Given the description of an element on the screen output the (x, y) to click on. 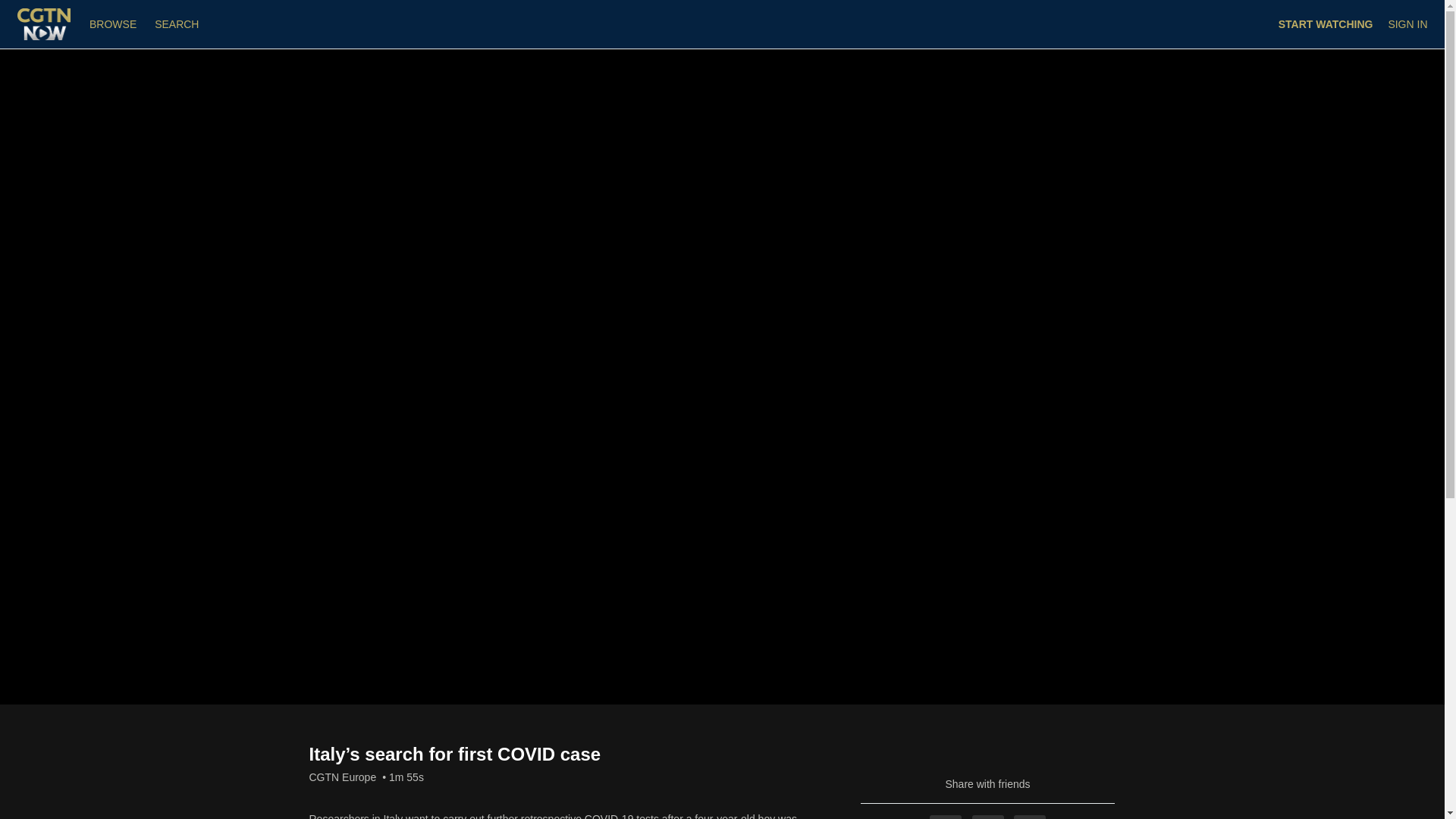
SIGN IN (1406, 24)
CGTN Europe (342, 776)
SEARCH (176, 24)
START WATCHING (1325, 24)
Facebook (945, 816)
Email (1029, 816)
BROWSE (114, 24)
Skip to main content (48, 7)
Twitter (988, 816)
